Given the description of an element on the screen output the (x, y) to click on. 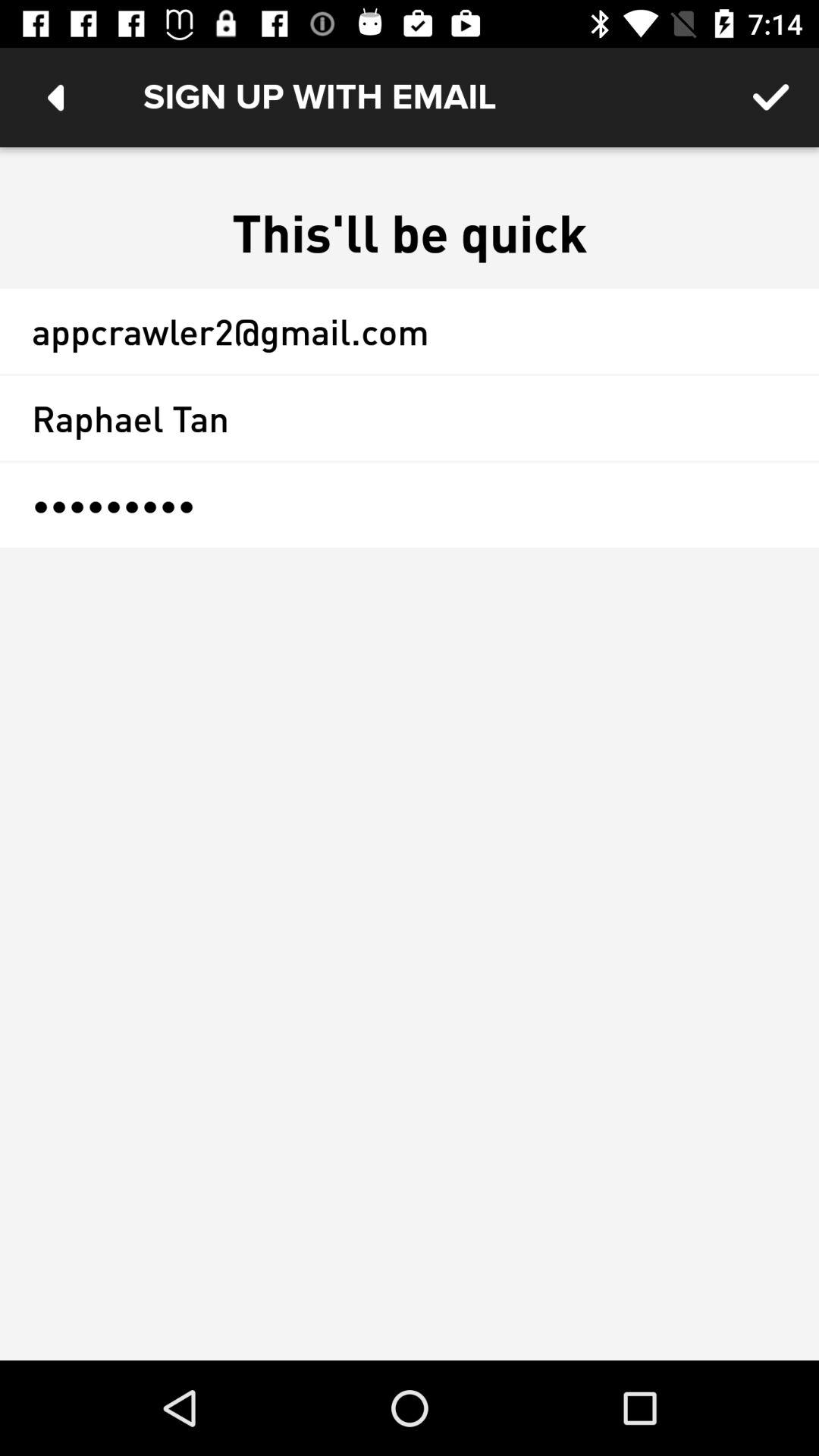
turn on icon to the left of sign up with icon (55, 97)
